Given the description of an element on the screen output the (x, y) to click on. 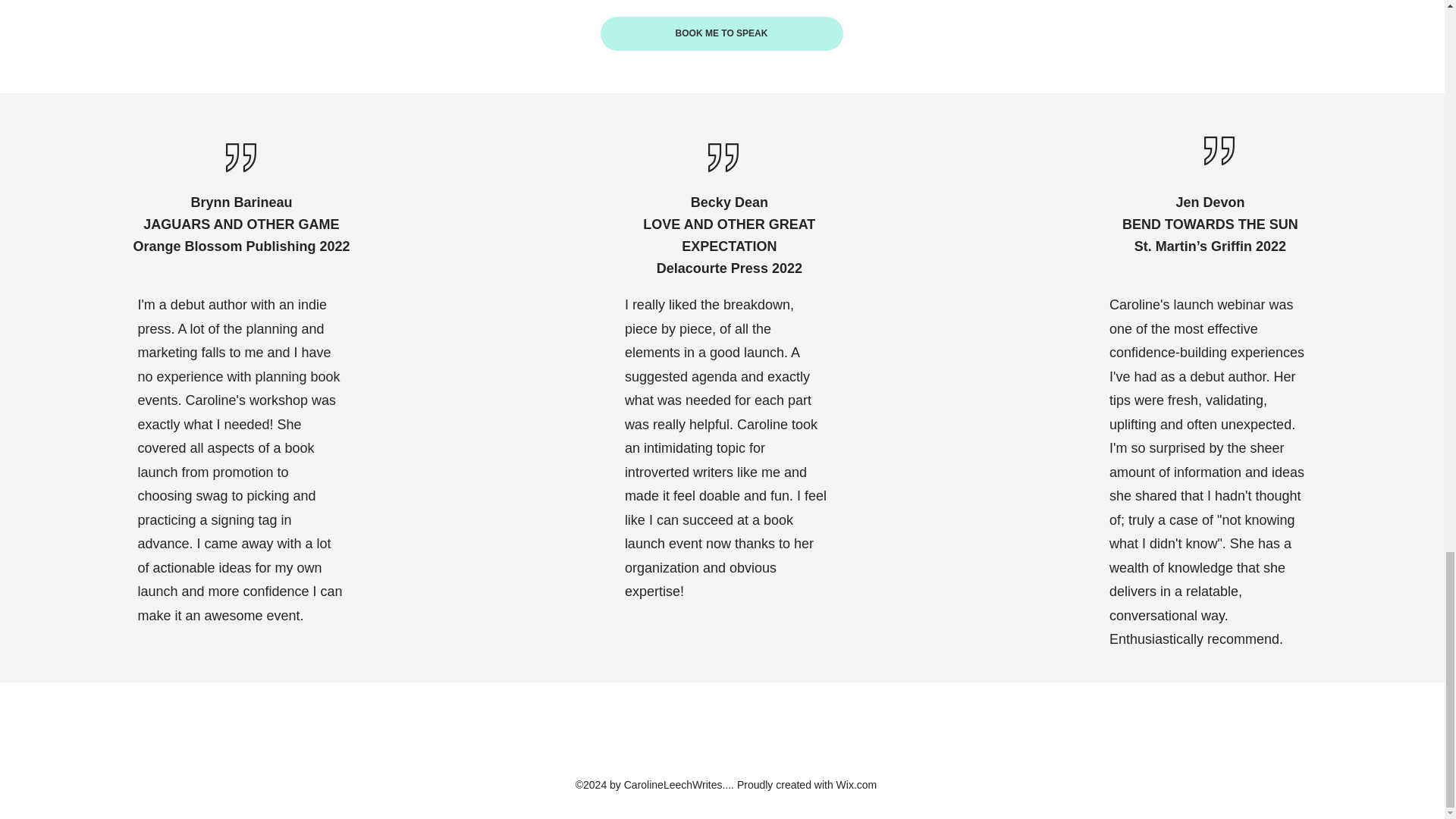
BOOK ME TO SPEAK (721, 33)
